Given the description of an element on the screen output the (x, y) to click on. 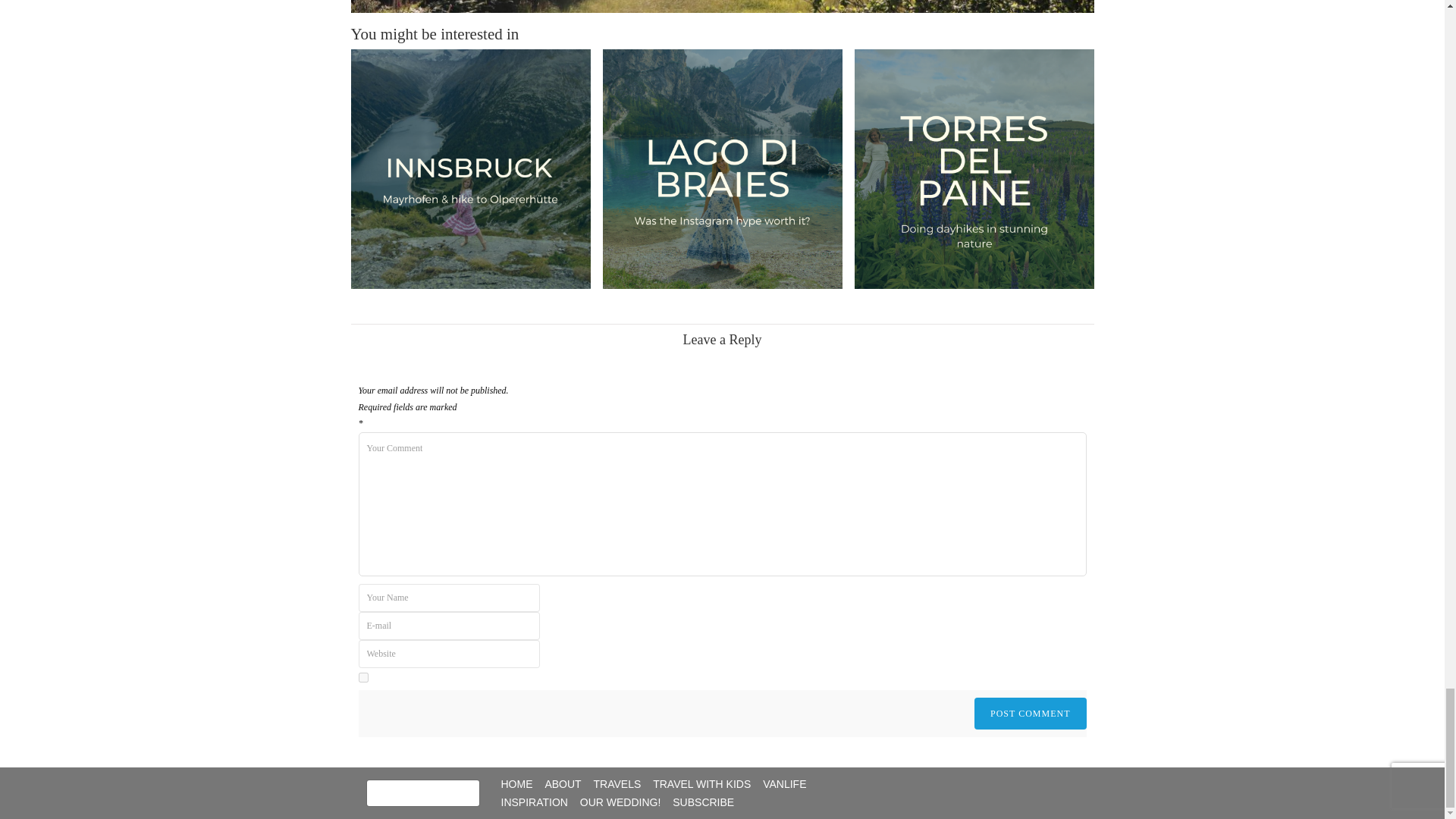
Search for: (422, 792)
Post Comment (1030, 713)
Lago di Braies (721, 169)
Innsbruck (469, 169)
Torres del paine 1 (973, 169)
yes (363, 677)
